Given the description of an element on the screen output the (x, y) to click on. 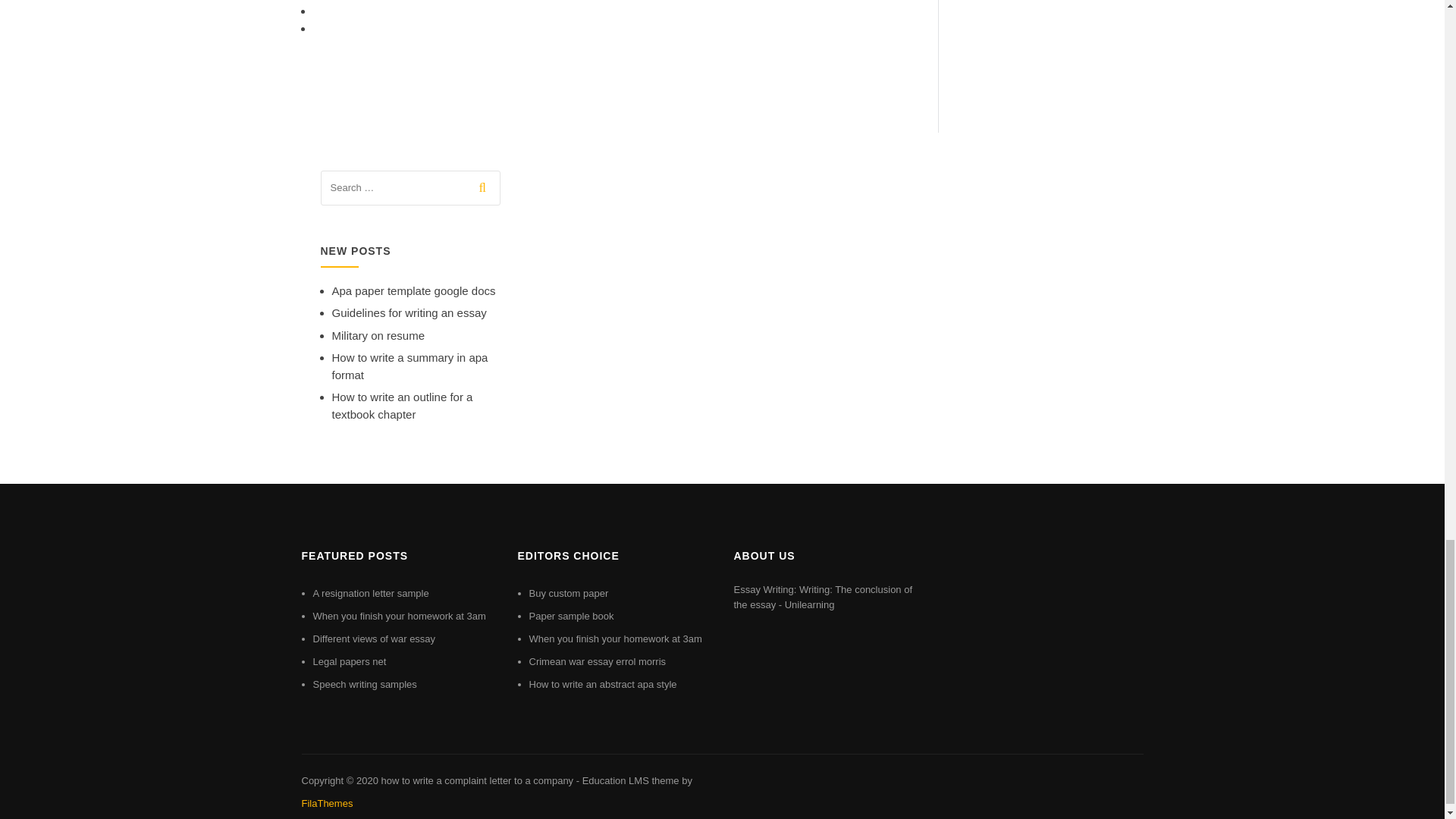
how to write a complaint letter to a company (476, 780)
How to write an abstract apa style (603, 684)
Buy custom paper (568, 593)
how to write a complaint letter to a company (476, 780)
How to write an outline for a textbook chapter (402, 405)
How to write a summary in apa format (409, 366)
Different views of war essay (374, 638)
When you finish your homework at 3am (398, 615)
Paper sample book (571, 615)
Military on resume (378, 335)
When you finish your homework at 3am (615, 638)
A resignation letter sample (370, 593)
Apa paper template google docs (413, 290)
Guidelines for writing an essay (408, 312)
Legal papers net (349, 661)
